Given the description of an element on the screen output the (x, y) to click on. 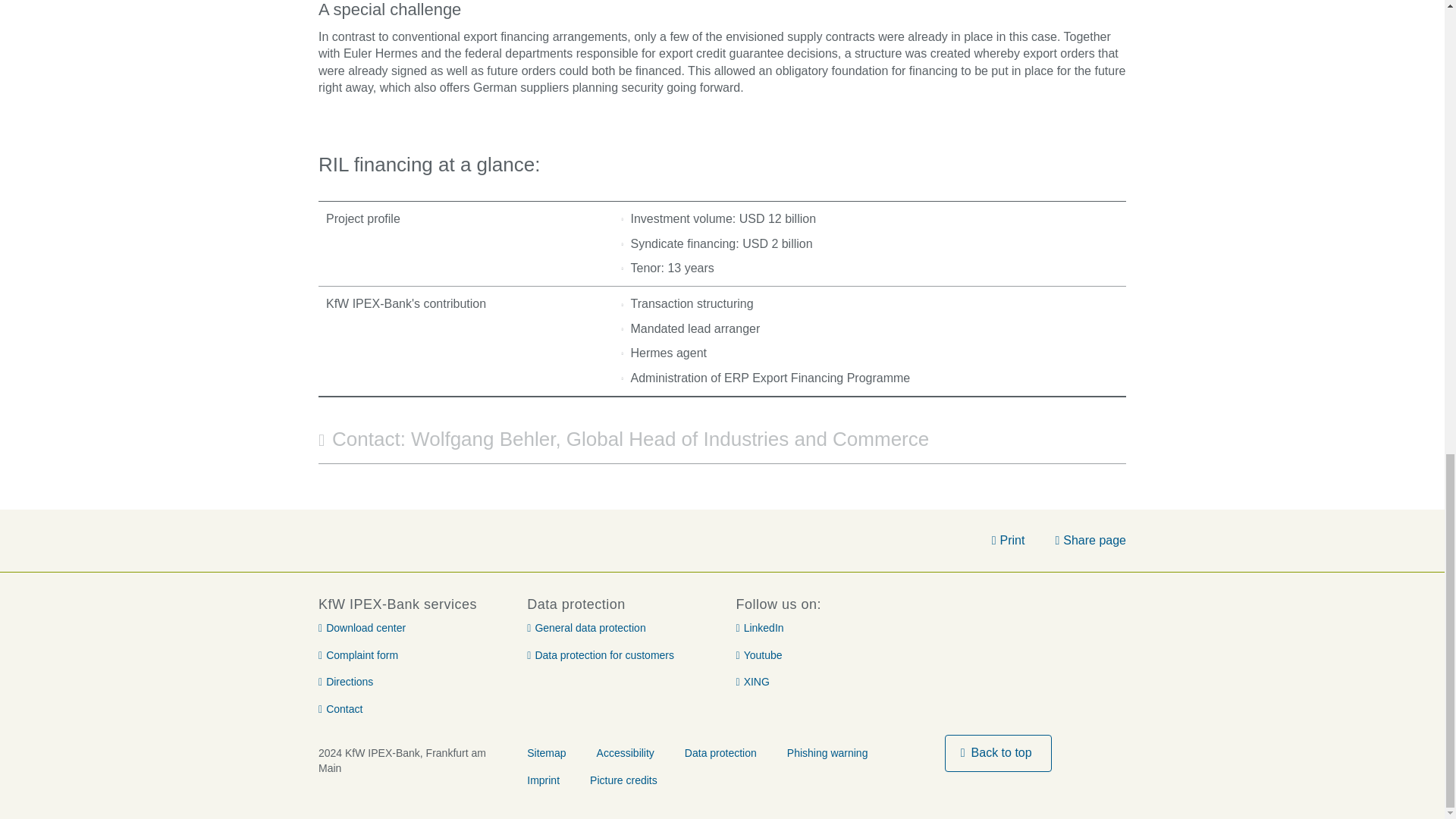
Complaint form (357, 655)
Print (1008, 540)
Download center (362, 628)
Directions (345, 682)
Share page (1089, 540)
